Given the description of an element on the screen output the (x, y) to click on. 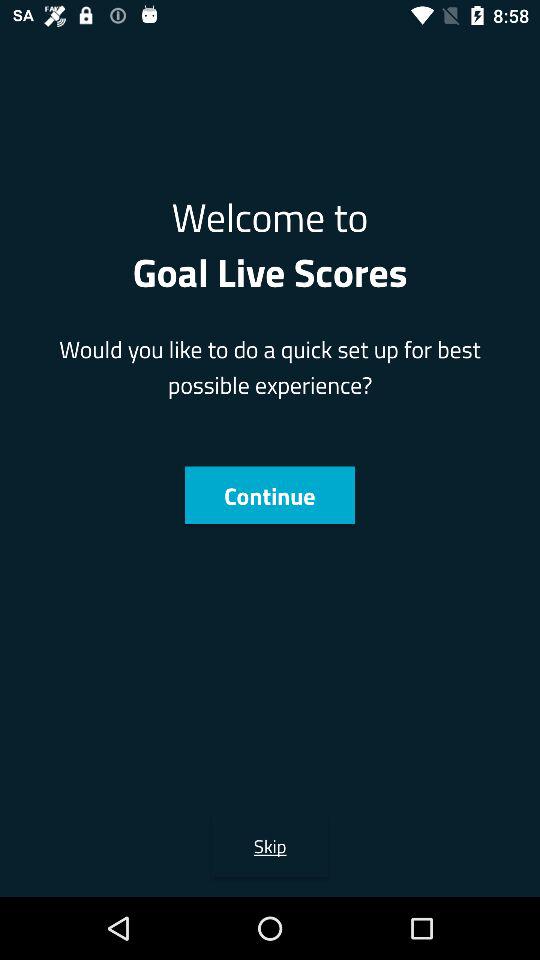
choose the continue item (269, 495)
